Given the description of an element on the screen output the (x, y) to click on. 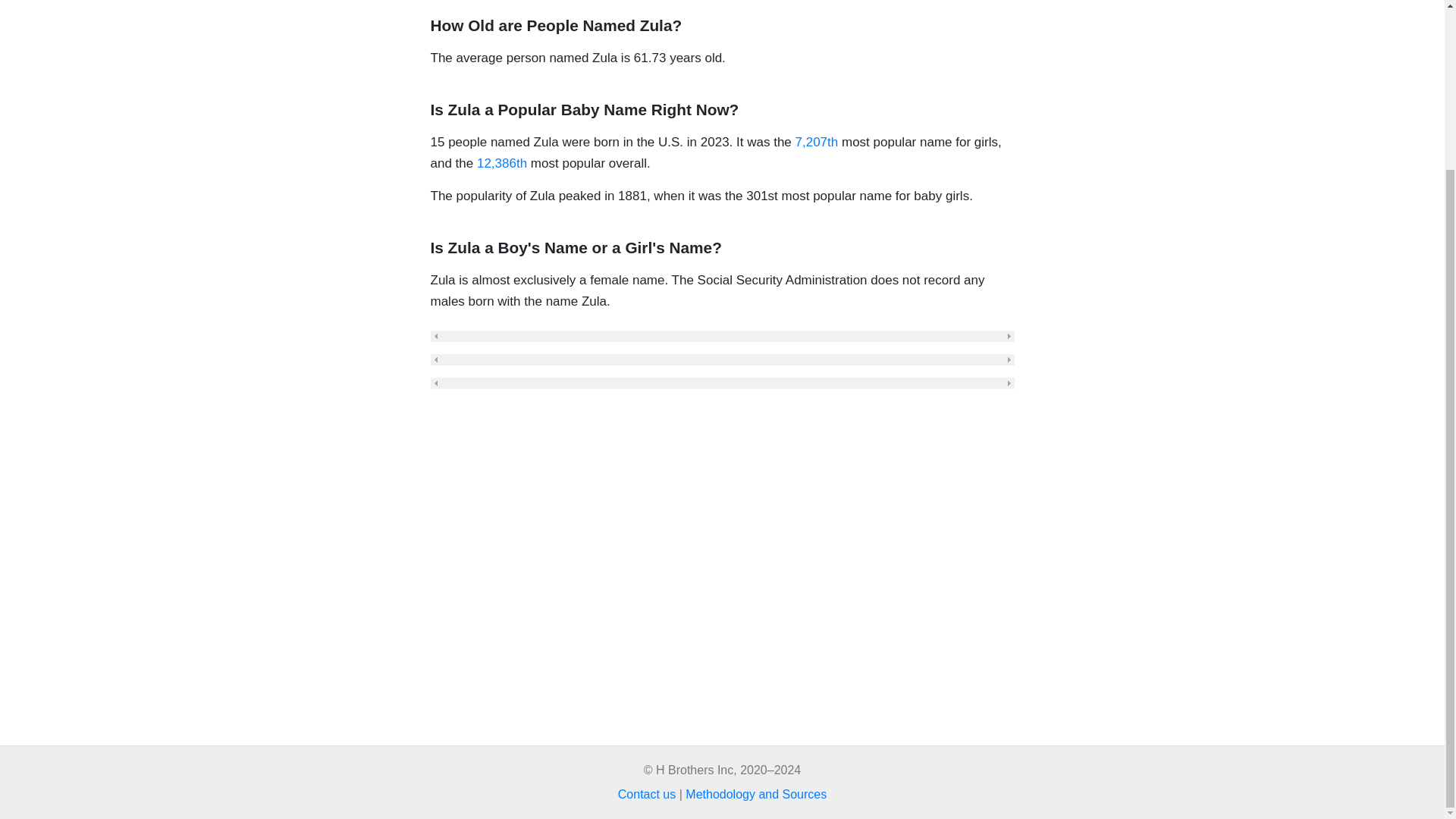
7,207th (816, 142)
Contact us (646, 793)
12,386th (502, 163)
Methodology and Sources (756, 793)
